Given the description of an element on the screen output the (x, y) to click on. 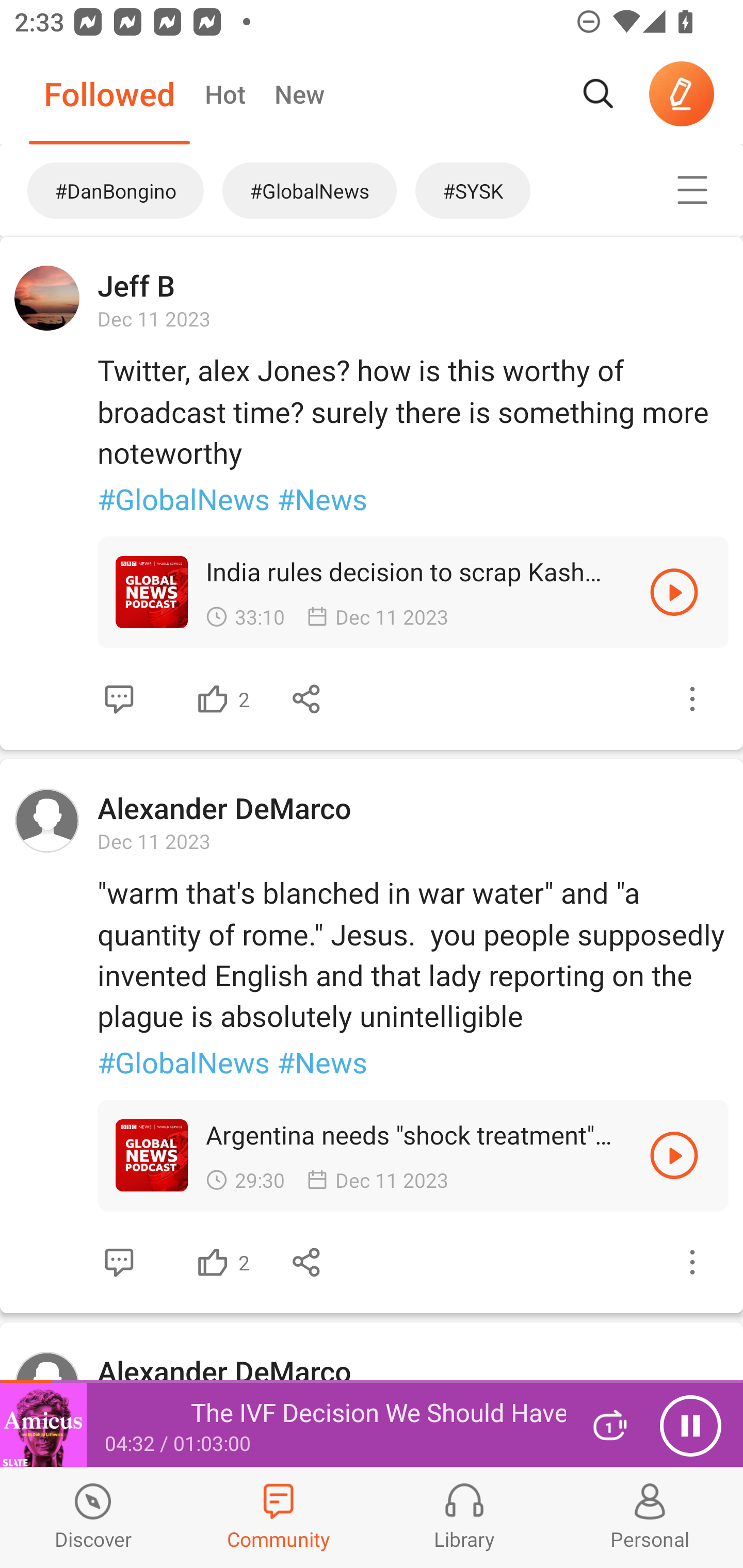
Followed (109, 93)
Hot (224, 93)
New (298, 93)
#DanBongino (106, 190)
#GlobalNews (309, 190)
#SYSK (518, 190)
 (692, 190)
 (673, 591)
 (119, 699)
 (212, 699)
 (307, 699)
 (692, 699)
 (673, 1154)
 (119, 1262)
 (212, 1262)
 (307, 1262)
 (692, 1262)
Pause (690, 1425)
Discover (92, 1517)
Community (278, 1517)
Library (464, 1517)
Profiles and Settings Personal (650, 1517)
